Given the description of an element on the screen output the (x, y) to click on. 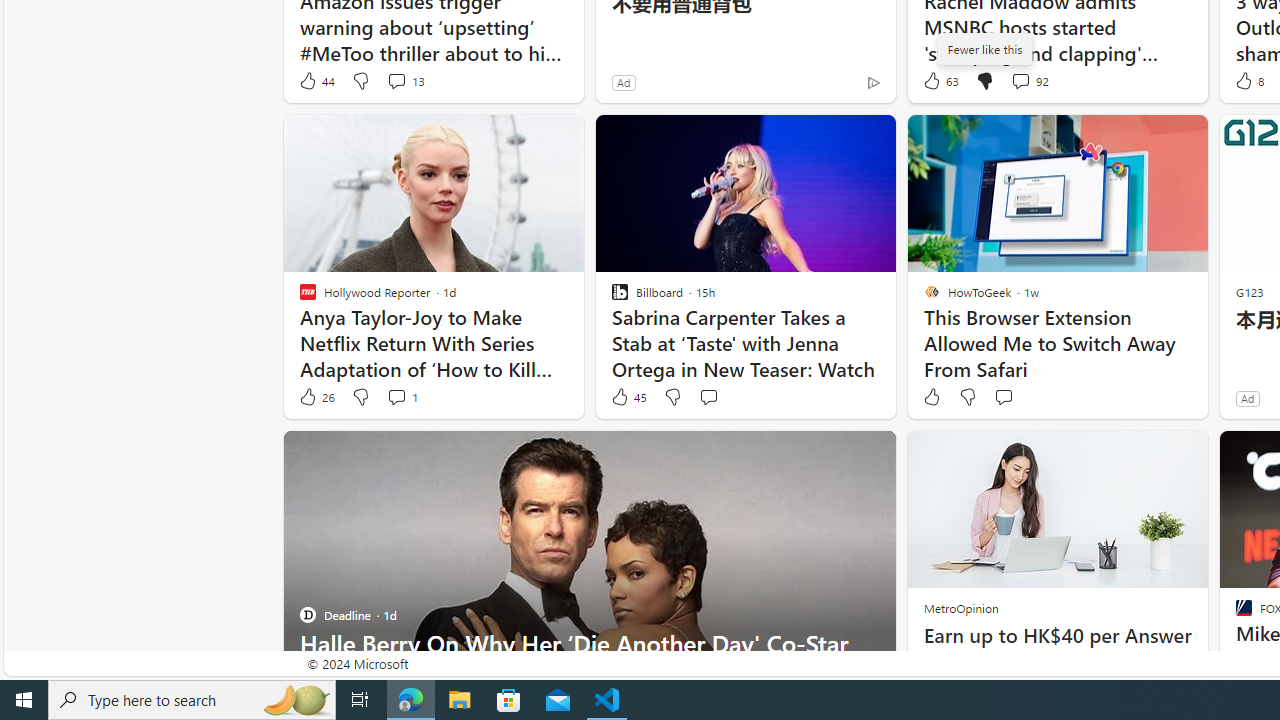
Earn up to HK$40 per Answer (1056, 636)
View comments 92 Comment (1019, 80)
G123 (1249, 291)
Dislike (966, 397)
8 Like (1248, 80)
44 Like (316, 80)
See more (871, 454)
Start the conversation (1003, 396)
